Given the description of an element on the screen output the (x, y) to click on. 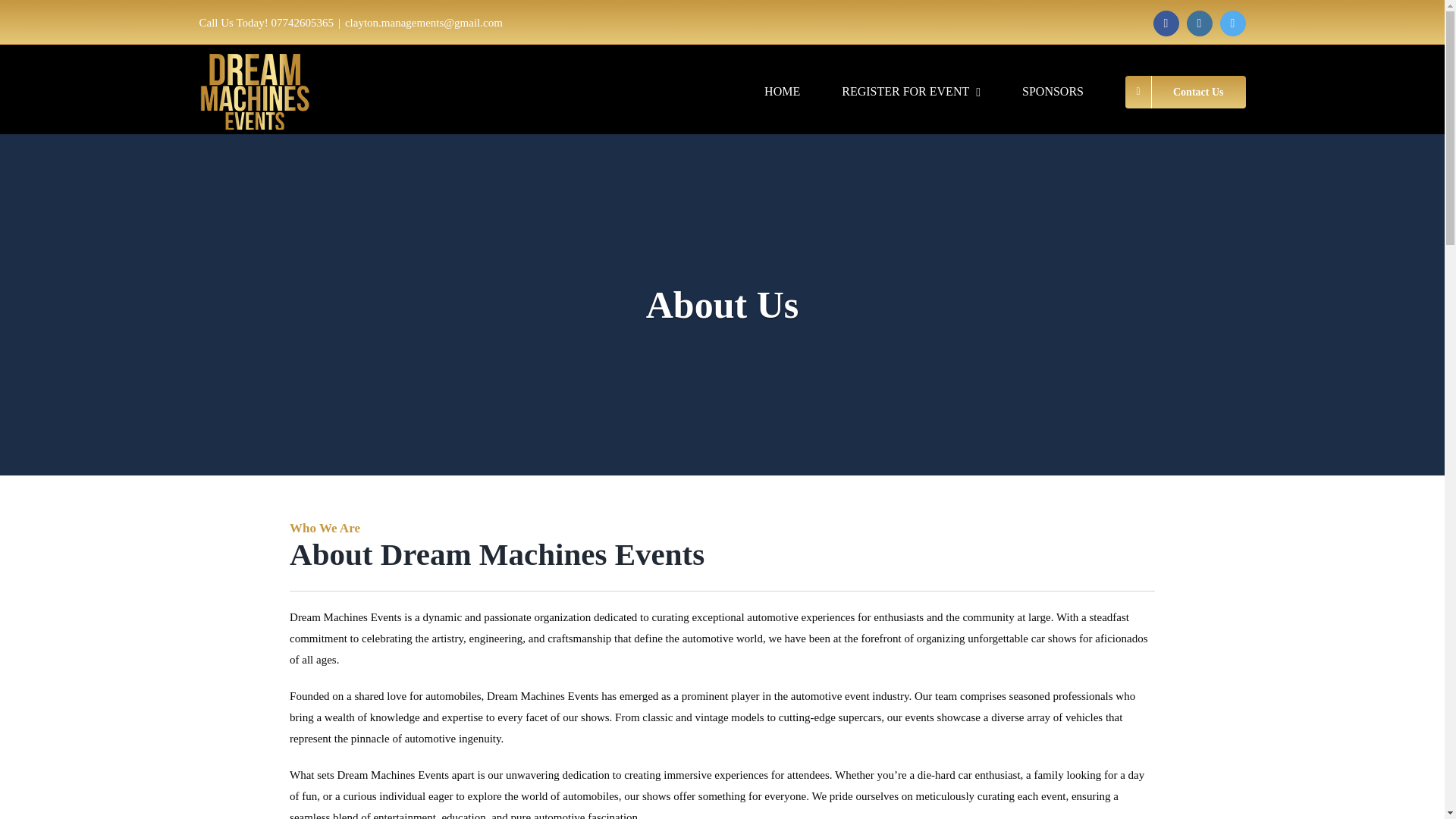
Instagram (1199, 23)
REGISTER FOR EVENT (910, 91)
Facebook (1166, 23)
Contact Us (1185, 91)
Twitter (1233, 23)
